Given the description of an element on the screen output the (x, y) to click on. 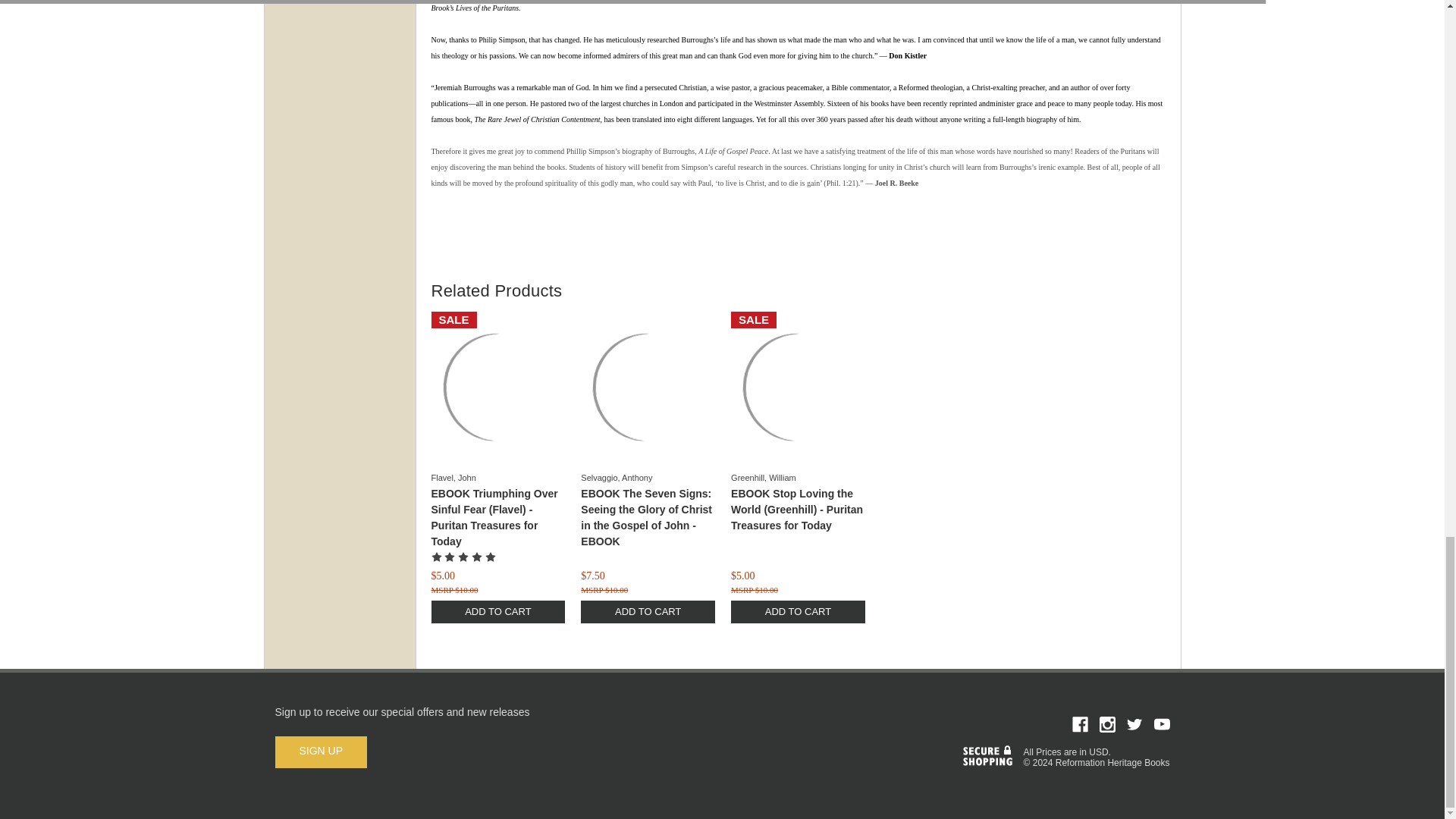
instagram (1107, 724)
youtube (1162, 724)
twitter (1134, 724)
Add to Cart (497, 611)
facebook (1079, 724)
Add to Cart (797, 611)
Add to Cart (647, 611)
